Given the description of an element on the screen output the (x, y) to click on. 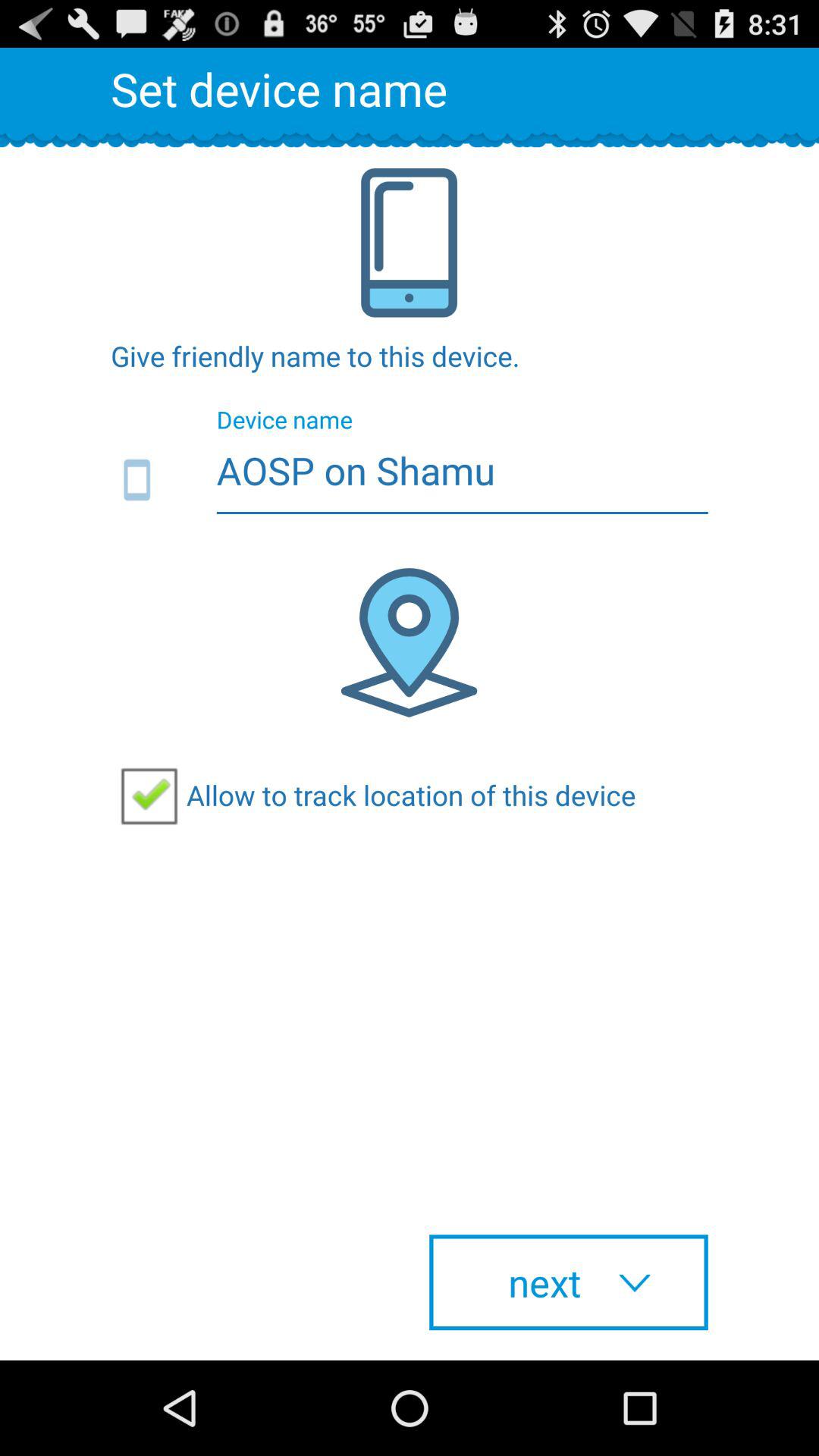
press the aosp on shamu icon (409, 480)
